Given the description of an element on the screen output the (x, y) to click on. 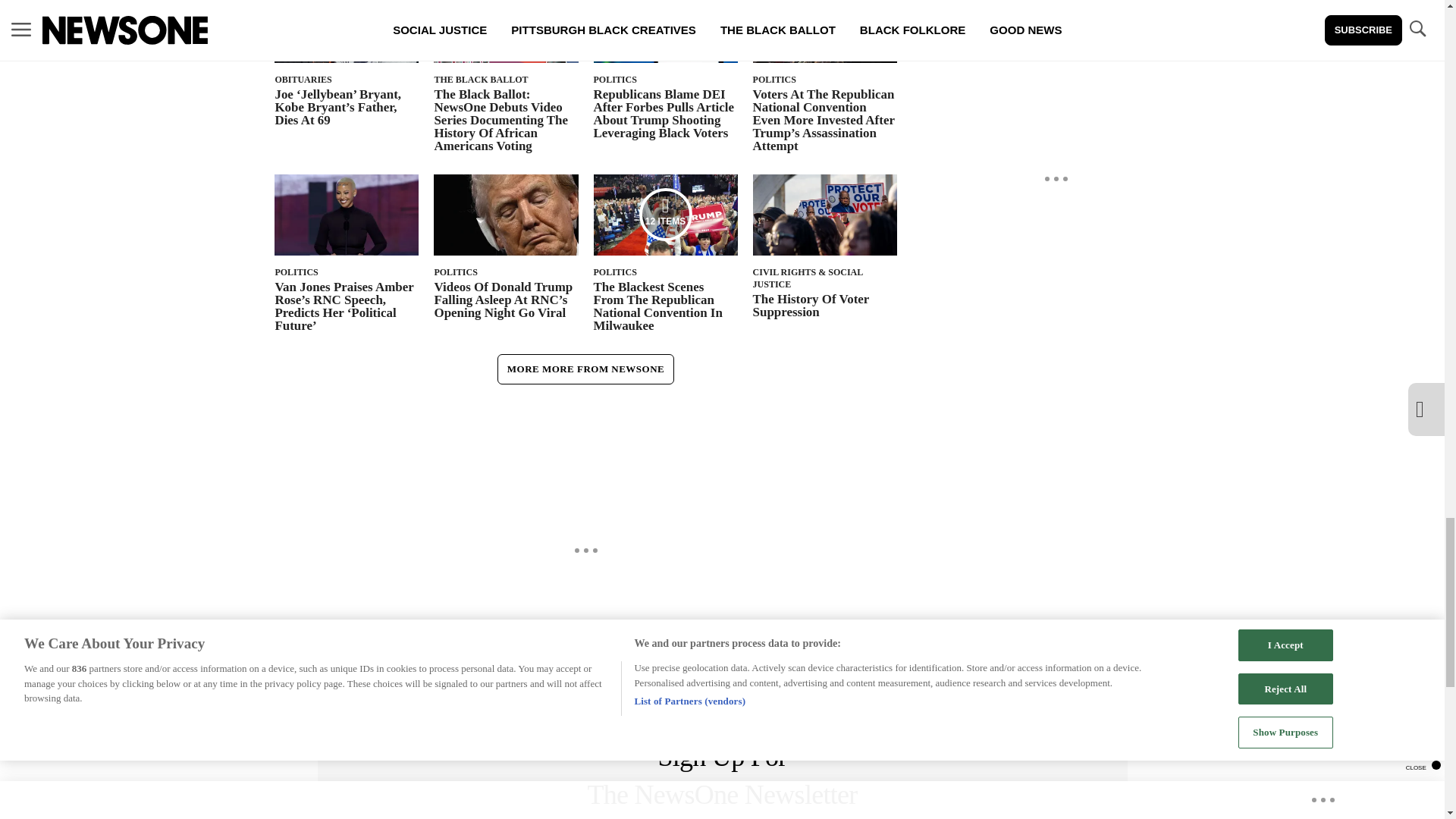
Media Playlist (346, 24)
Media Playlist (666, 214)
